Given the description of an element on the screen output the (x, y) to click on. 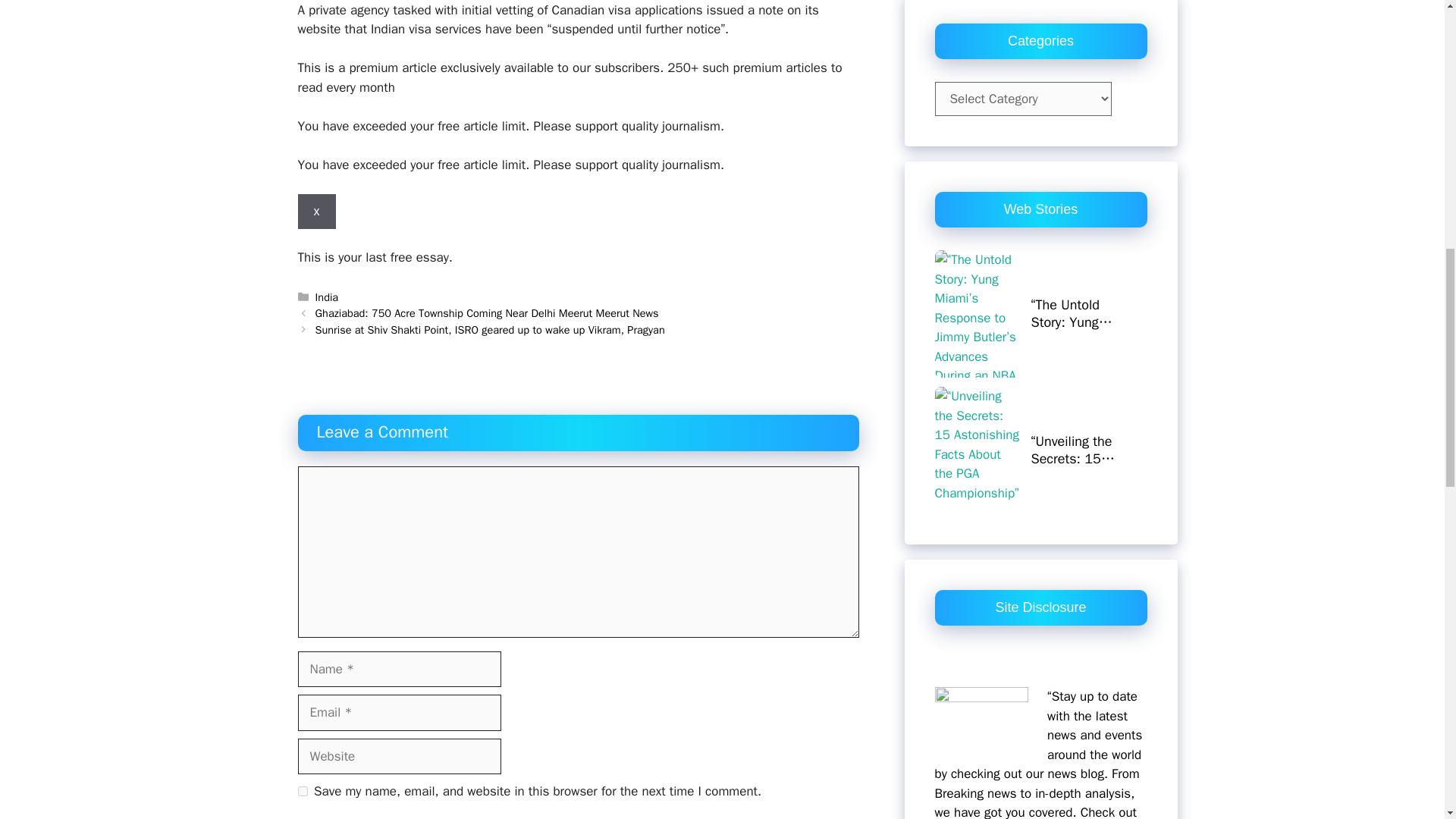
yes (302, 791)
India (578, 230)
x (327, 296)
